Given the description of an element on the screen output the (x, y) to click on. 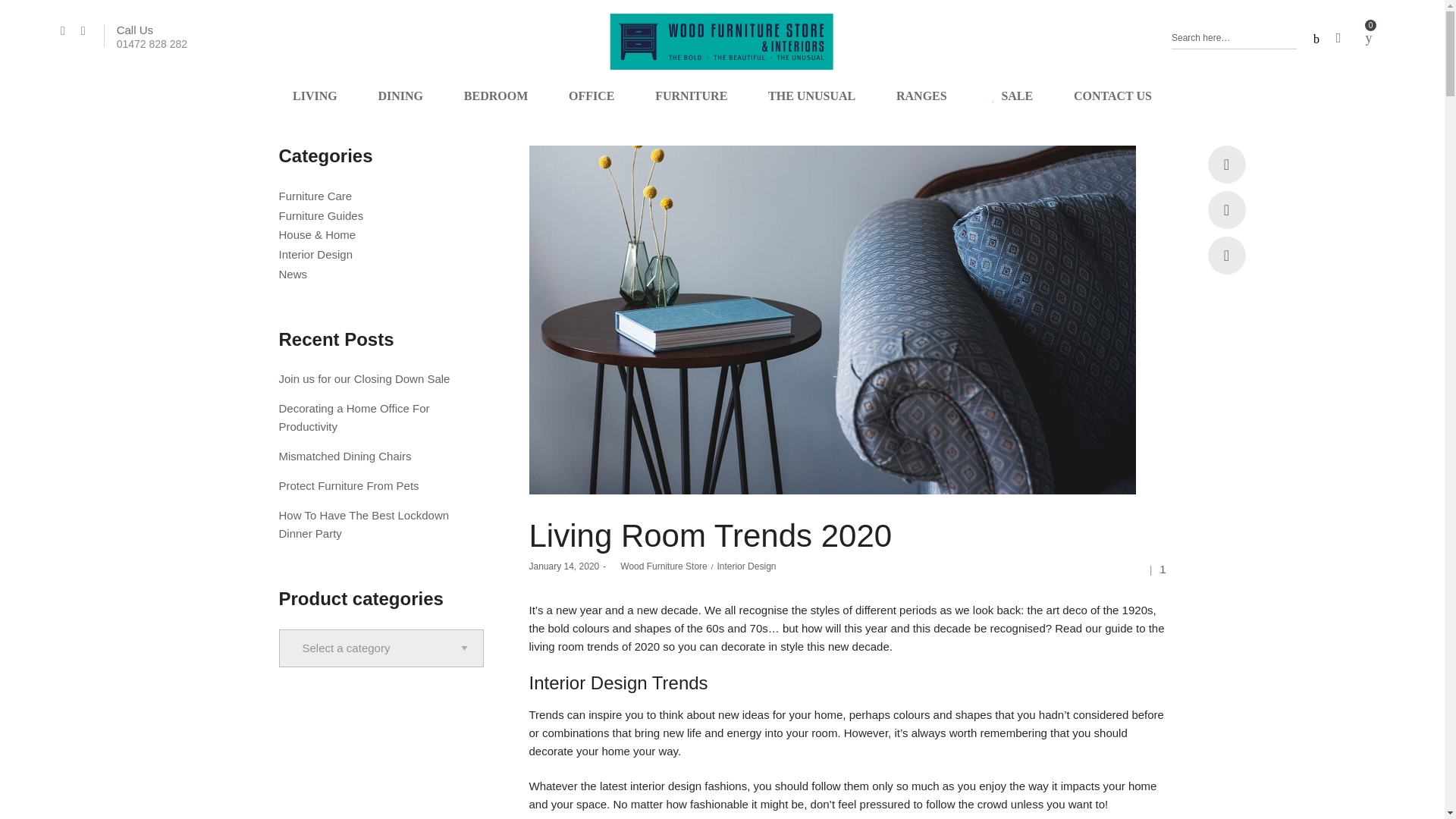
RANGES (921, 96)
THE UNUSUAL (811, 96)
FURNITURE (690, 96)
DINING (399, 96)
LIVING (315, 96)
OFFICE (145, 30)
Search for: (591, 96)
BEDROOM (1234, 37)
Share this post on Facebook (495, 96)
Share via Whatsapp (1225, 164)
0 (1225, 209)
Share this post via Email (1369, 37)
